Given the description of an element on the screen output the (x, y) to click on. 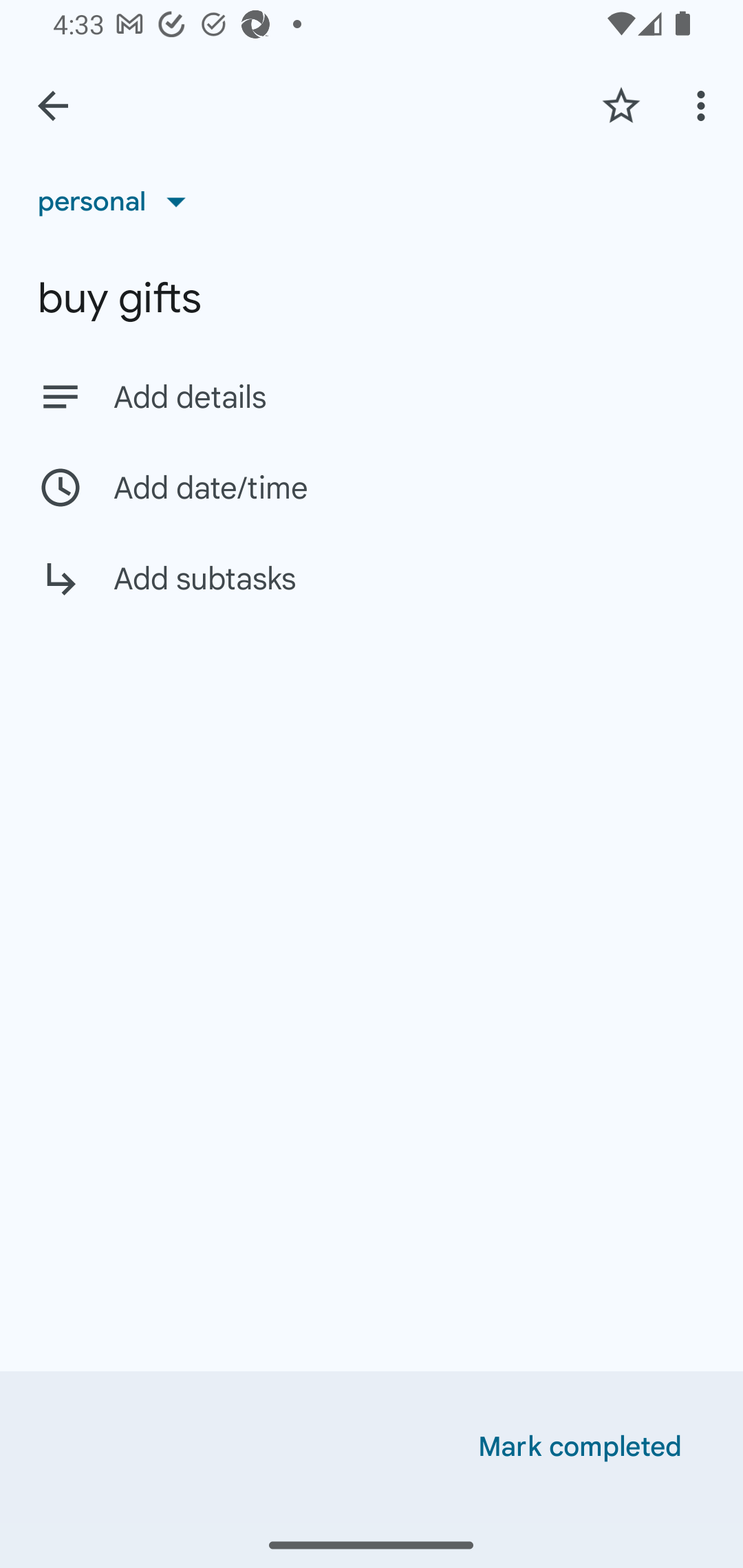
Back (53, 105)
Add star (620, 105)
More options (704, 105)
personal List, personal selected, 1 of 16 (118, 201)
buy gifts (371, 298)
Add details (371, 396)
Add details (409, 397)
Add date/time (371, 487)
Add subtasks (371, 593)
Mark completed (580, 1446)
